Given the description of an element on the screen output the (x, y) to click on. 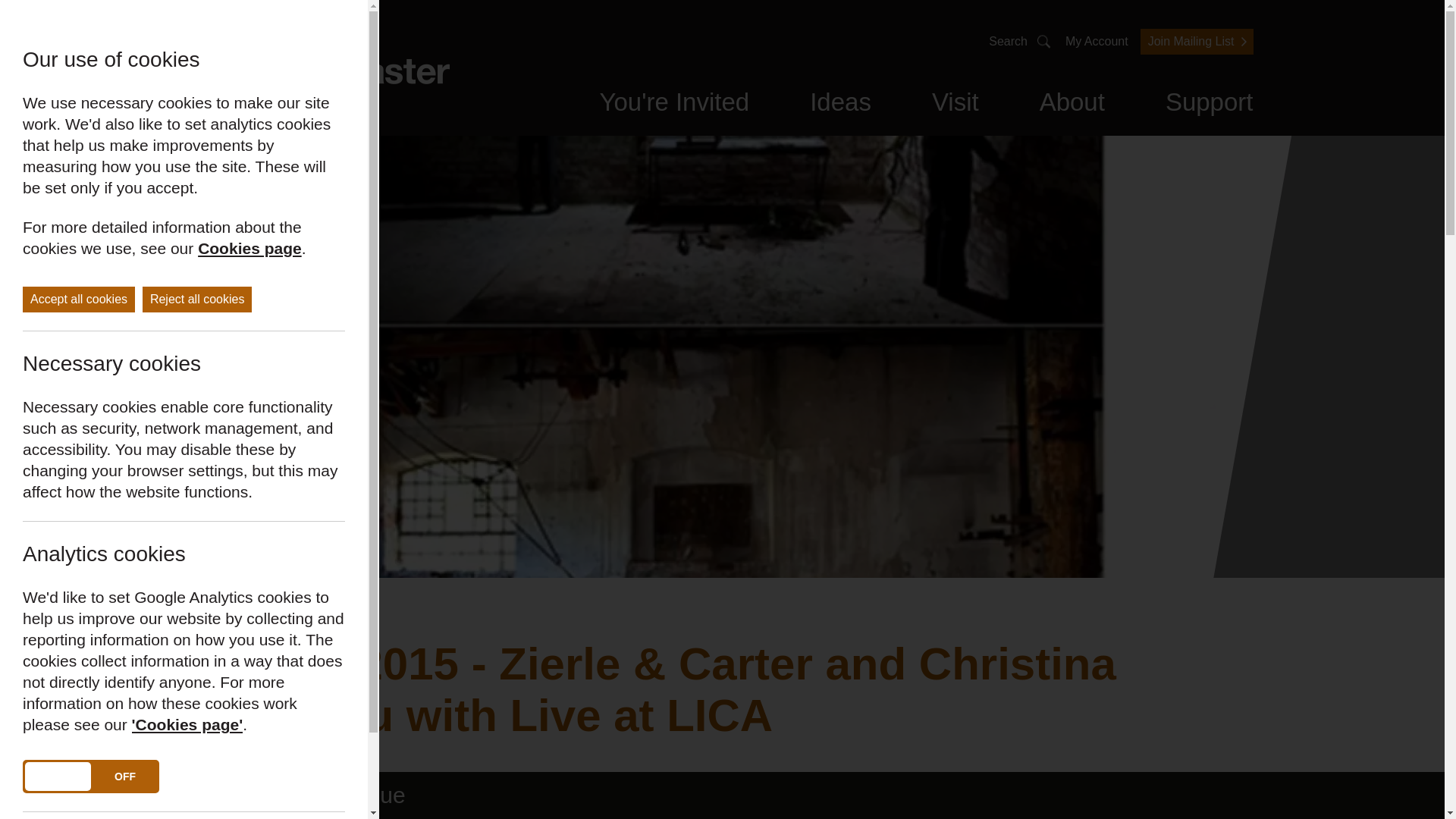
Current Projects (719, 107)
Volunteer (774, 107)
Reject all cookies (196, 299)
For Artists (893, 107)
Collections (871, 107)
News (866, 107)
Accept all cookies (79, 299)
Friends Voices (615, 107)
Booking Info (592, 107)
Gift Vouchers (738, 107)
